Given the description of an element on the screen output the (x, y) to click on. 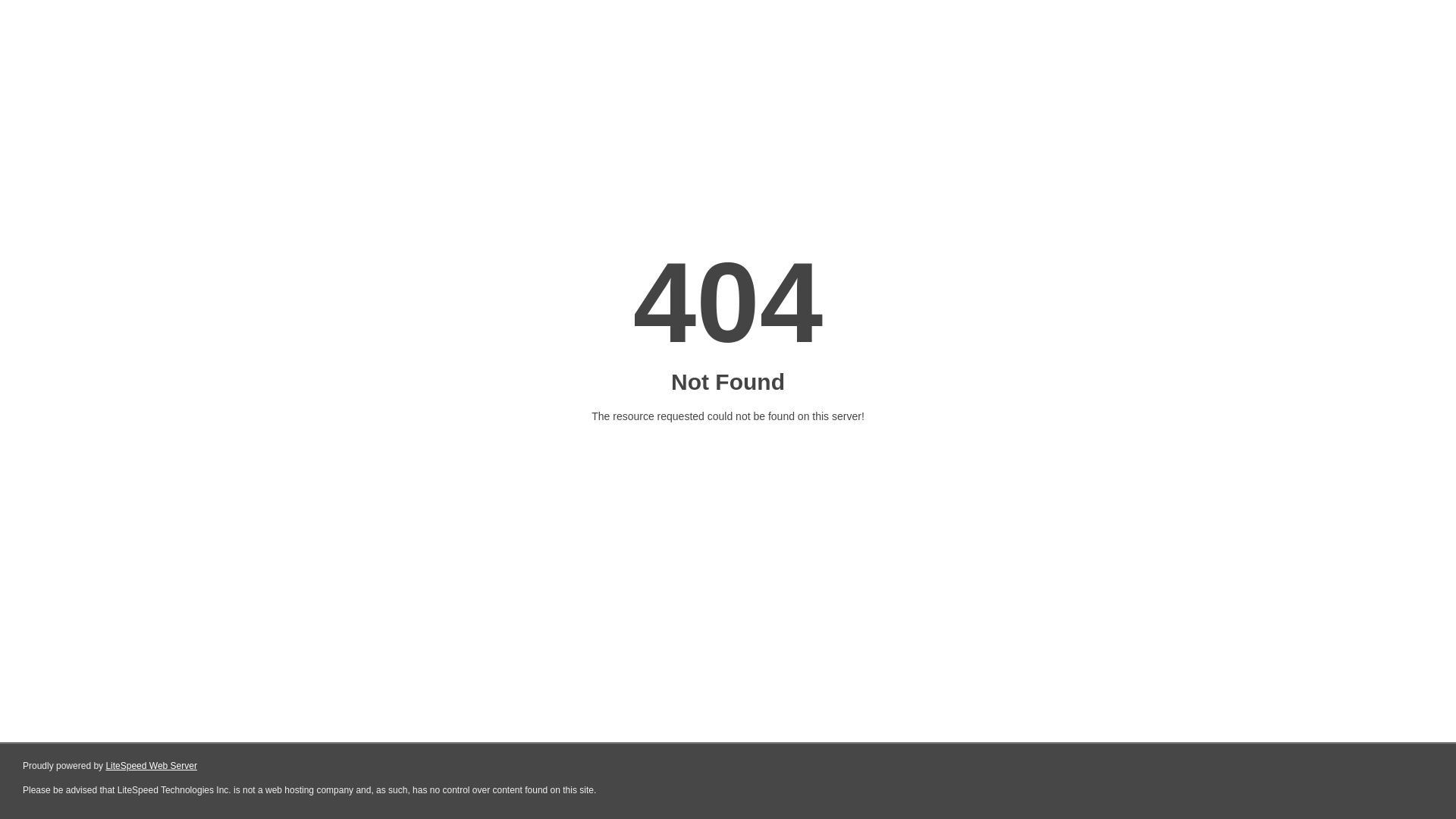
LiteSpeed Web Server Element type: text (151, 765)
